Given the description of an element on the screen output the (x, y) to click on. 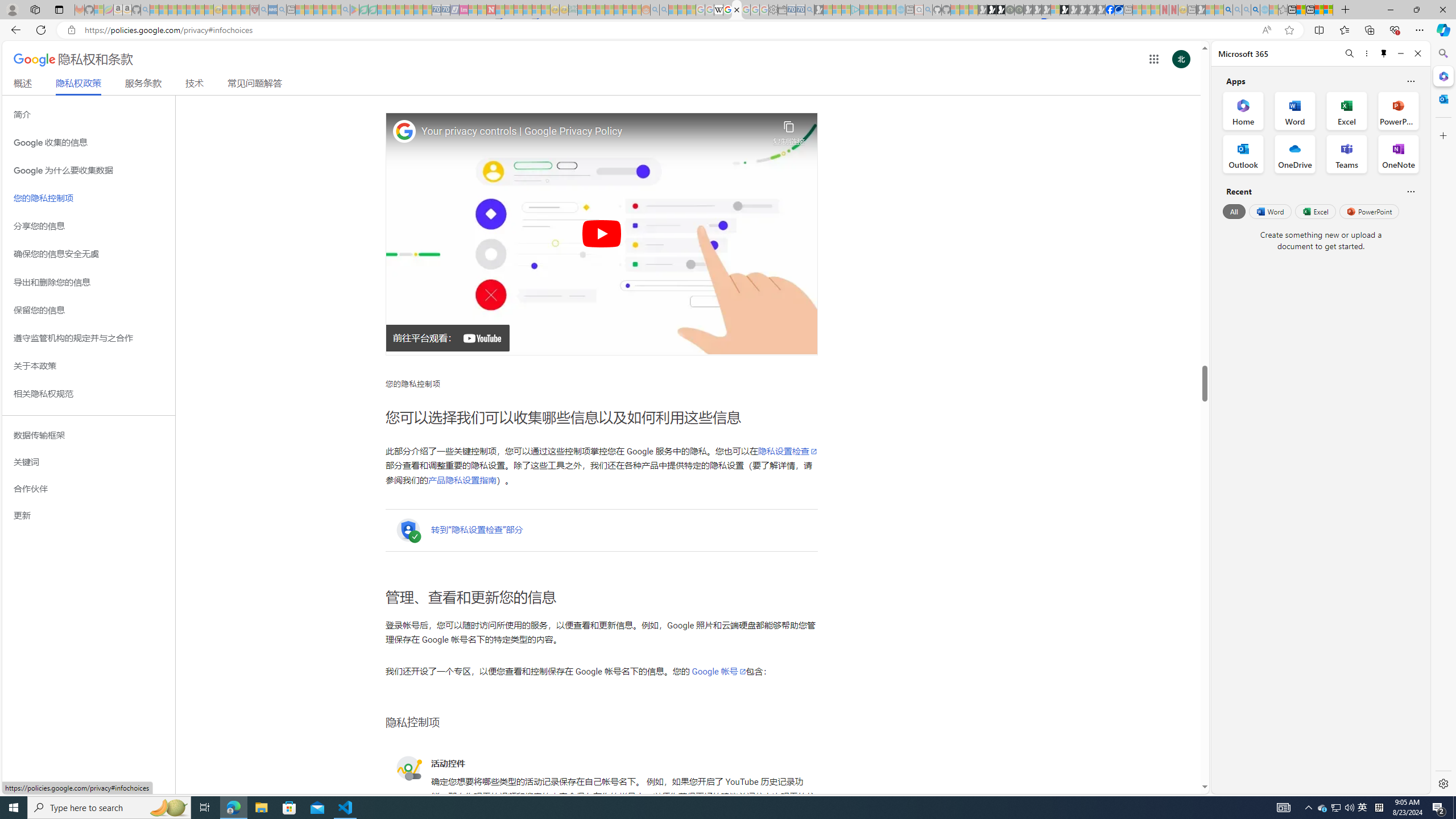
PowerPoint (1369, 210)
PowerPoint Office App (1398, 110)
Excel Office App (1346, 110)
Teams Office App (1346, 154)
Is this helpful? (1410, 191)
